Given the description of an element on the screen output the (x, y) to click on. 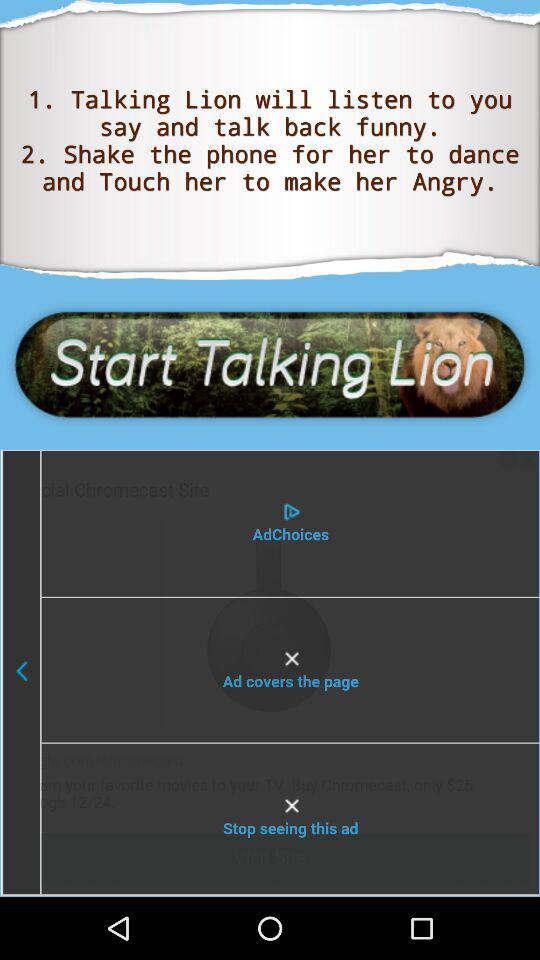
button to start talking lion (270, 364)
